Given the description of an element on the screen output the (x, y) to click on. 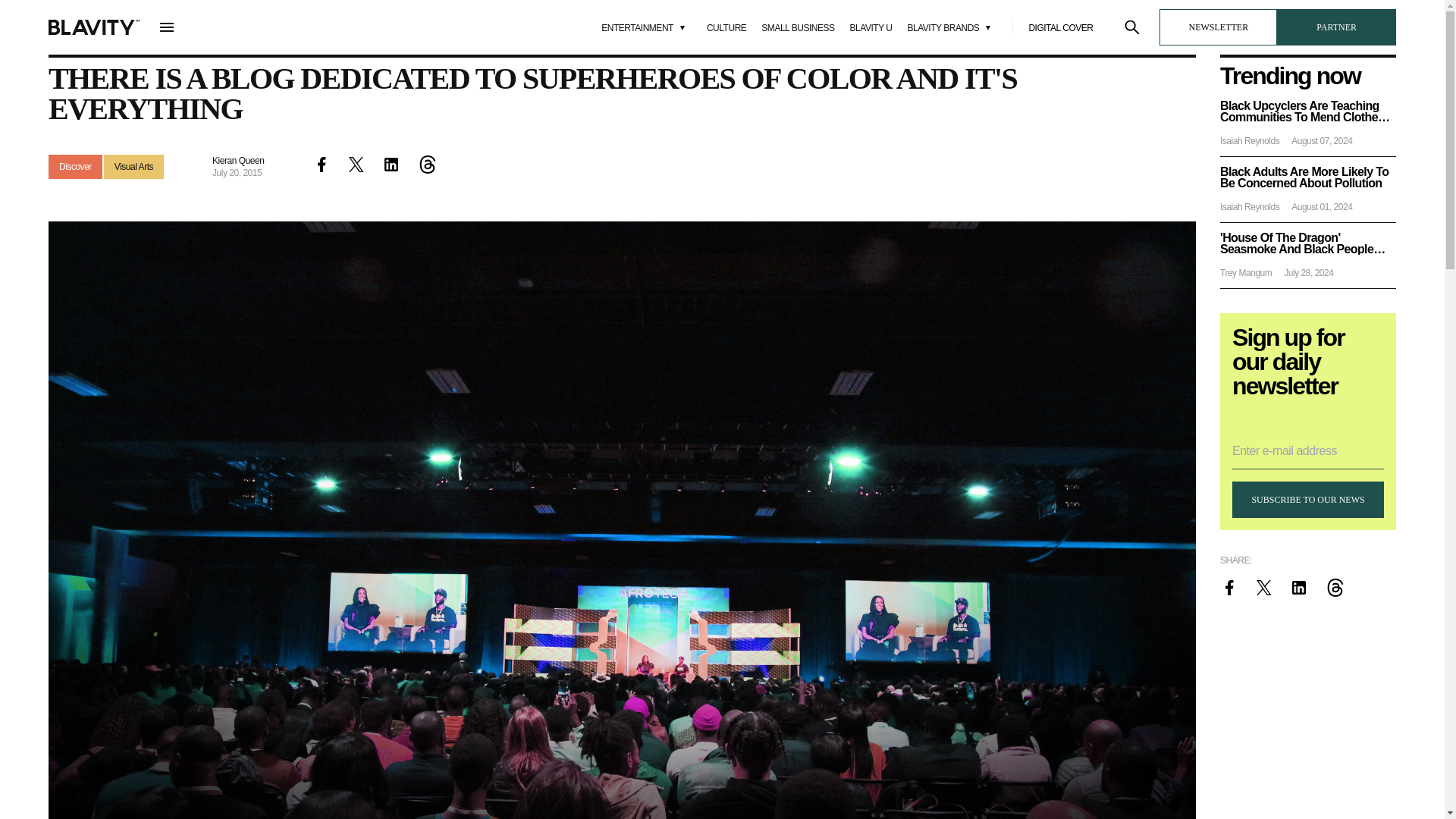
PARTNER (1336, 27)
NEWSLETTER (1217, 27)
Blavity News logo (93, 27)
DIGITAL COVER (1060, 28)
send (253, 533)
SMALL BUSINESS (797, 28)
subscribe to our news (1307, 499)
ENTERTAINMENT (646, 27)
BLAVITY U (871, 28)
